Given the description of an element on the screen output the (x, y) to click on. 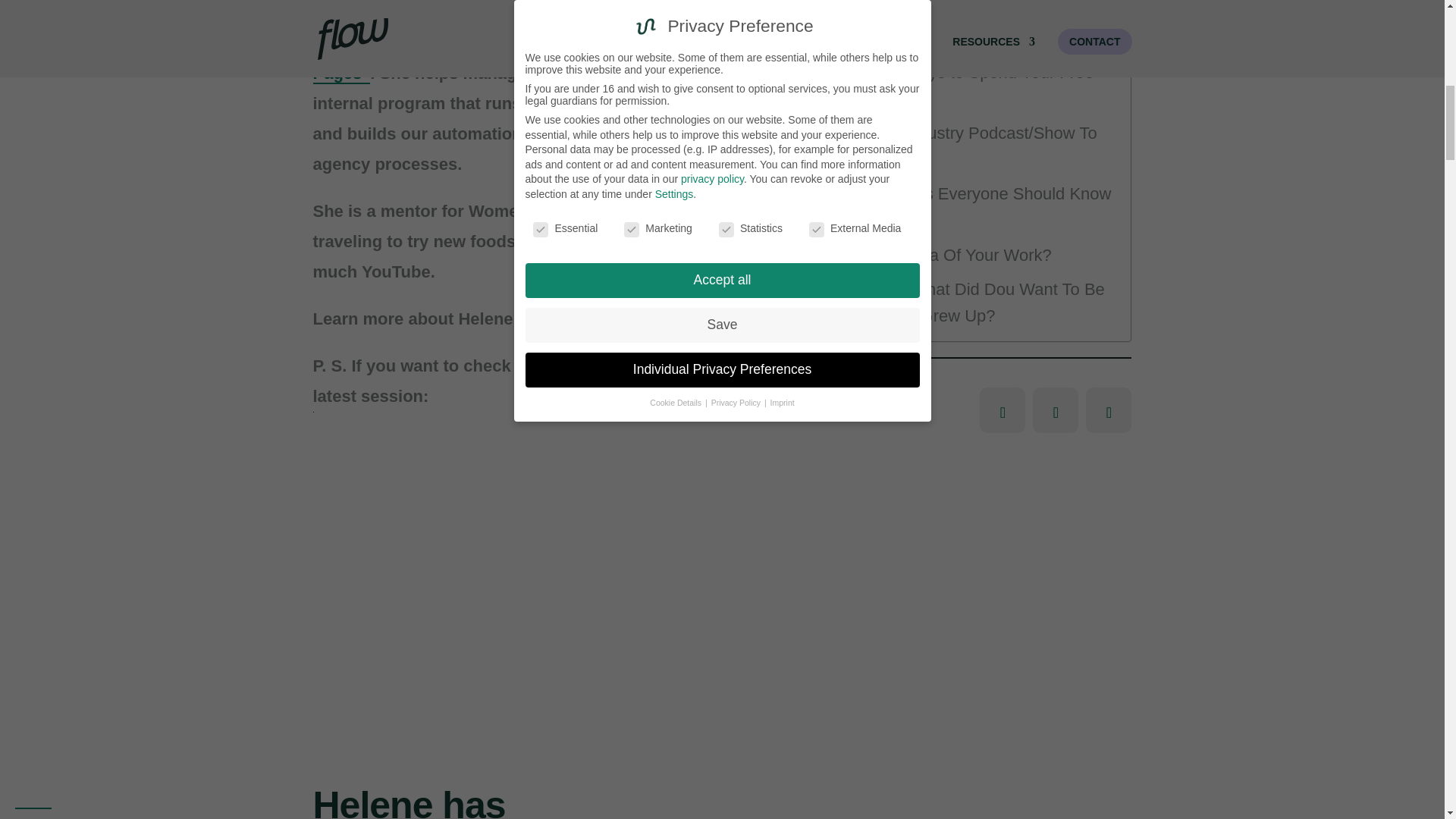
Share on Facebook (1108, 410)
Share on LinkedIn (1002, 410)
What Values Motivate You? (941, 37)
Favorite Area Of Your Work? (945, 254)
Favorite Ways to Spend Your Free Time? (977, 85)
Share on X (1055, 410)
As A Kid, What Did Dou Want To Be When You Grew Up? (977, 302)
3 Resources Everyone Should Know About (977, 206)
1 (328, 681)
